Given the description of an element on the screen output the (x, y) to click on. 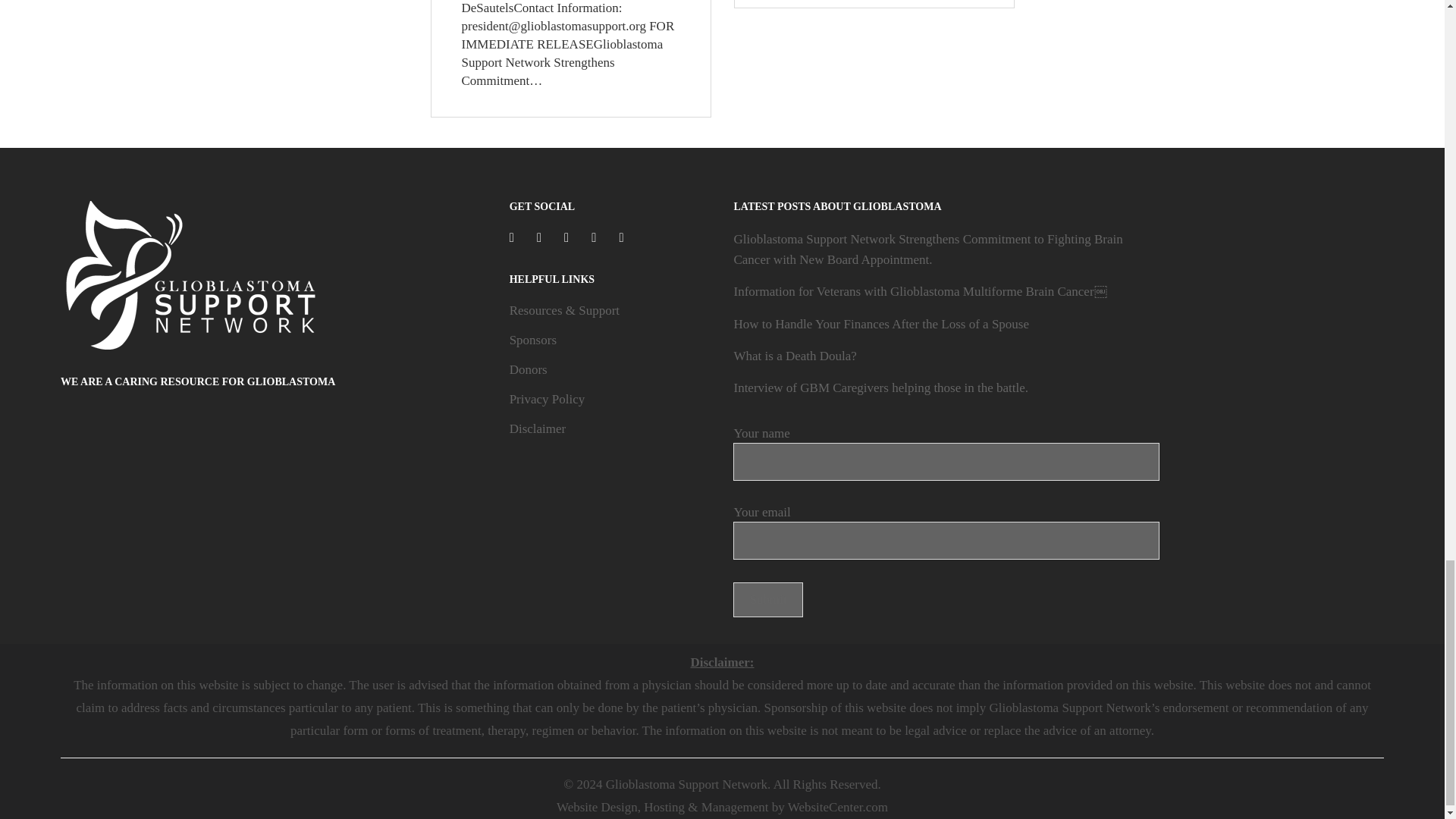
Submit (767, 599)
